Given the description of an element on the screen output the (x, y) to click on. 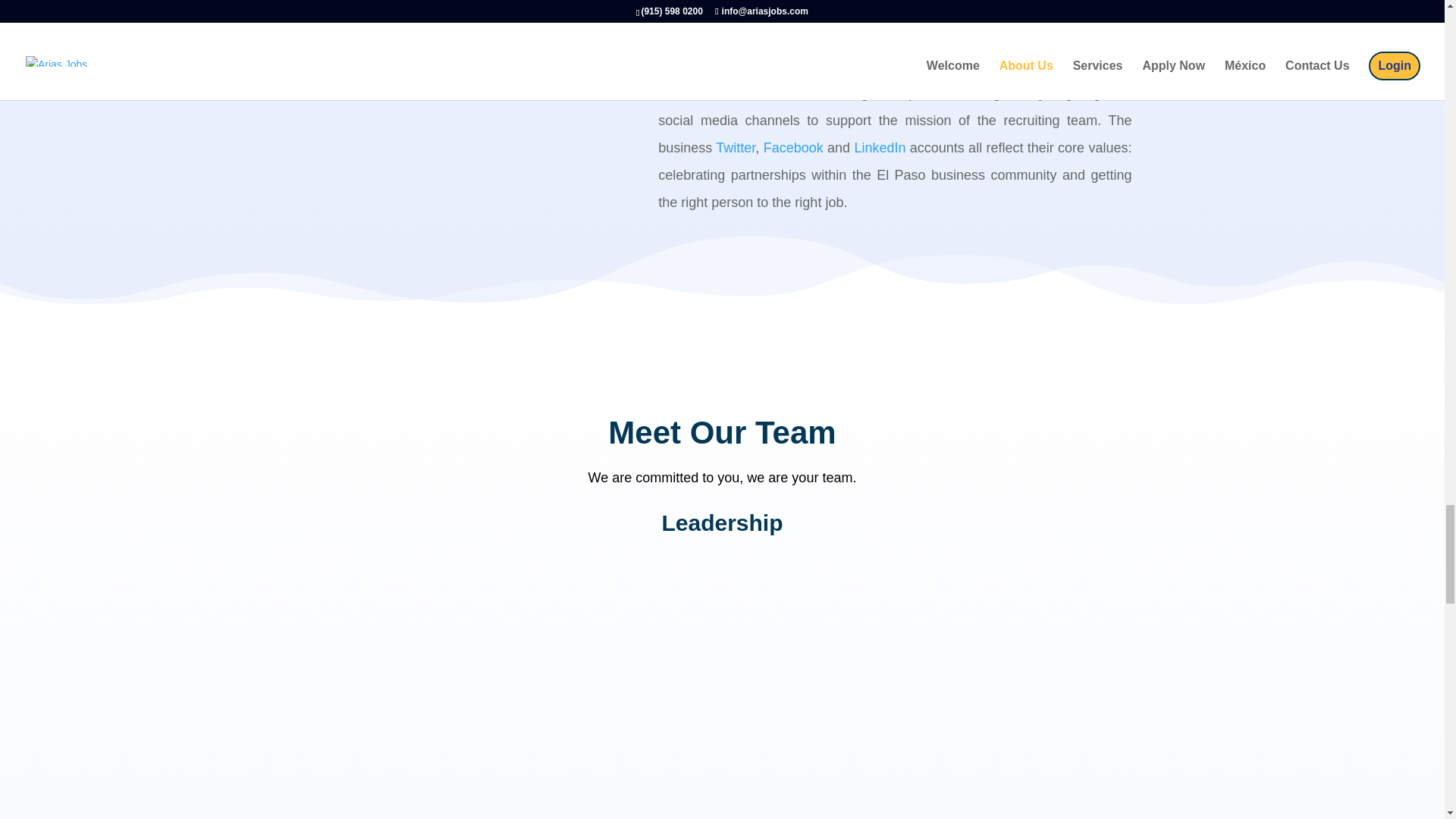
LinkedIn (879, 147)
Twitter (735, 147)
Facebook (793, 147)
